Given the description of an element on the screen output the (x, y) to click on. 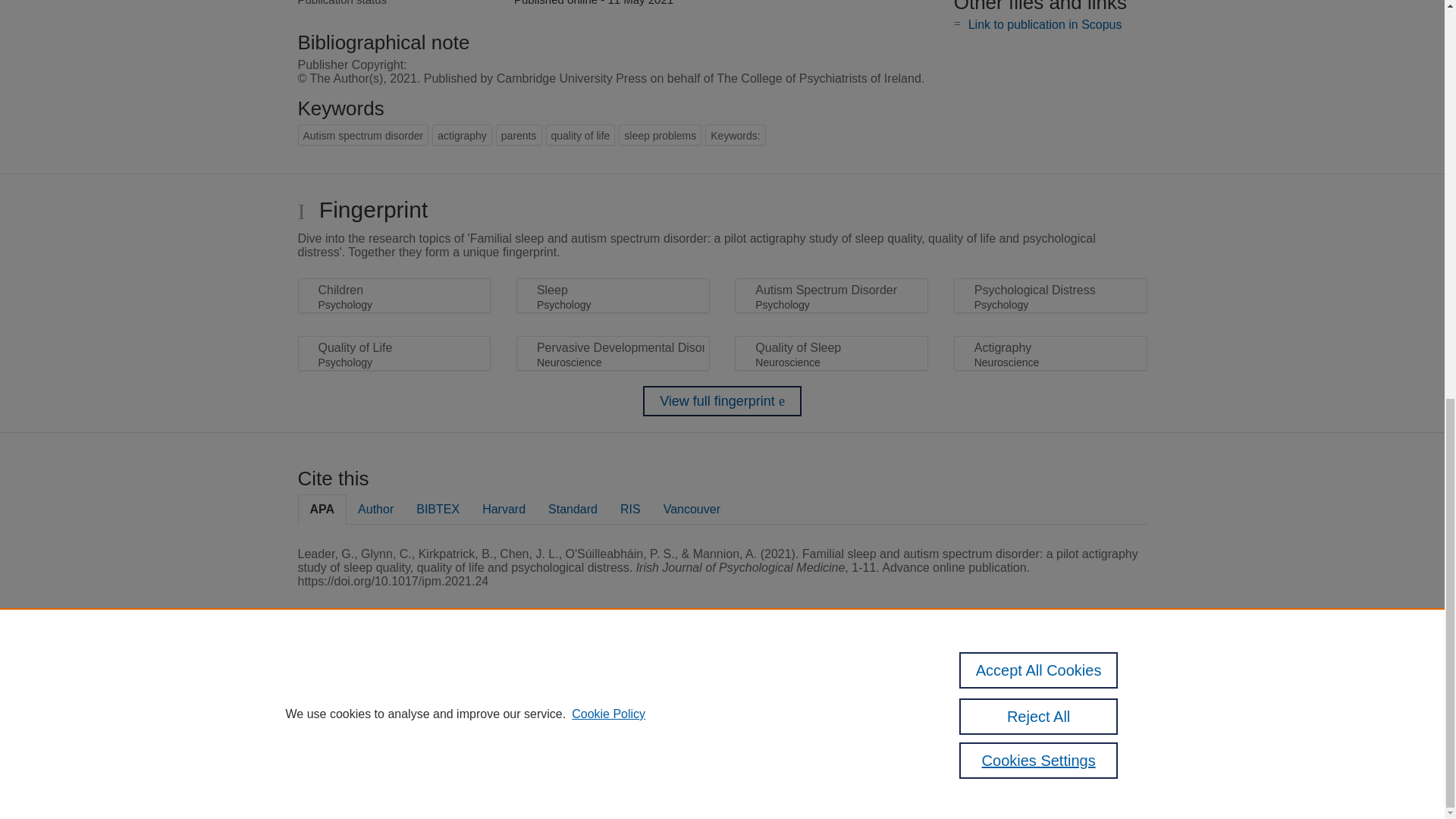
View full fingerprint (722, 400)
Pure (362, 686)
Link to publication in Scopus (1045, 24)
Scopus (394, 686)
